Given the description of an element on the screen output the (x, y) to click on. 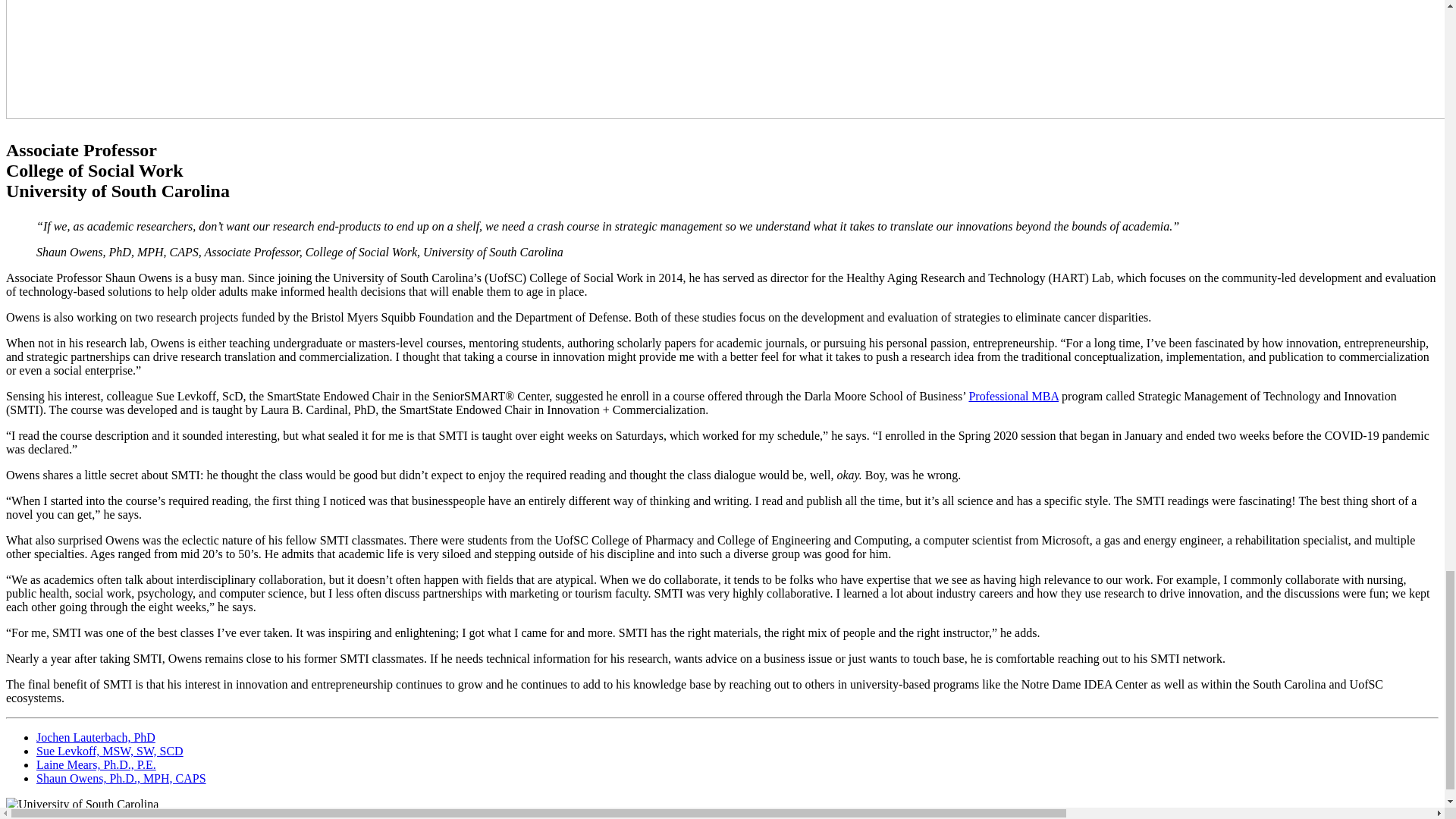
Shaun Owens, Ph.D., MPH, CAPS (121, 778)
Sue Levkoff, MSW, SW, SCD (109, 750)
Professional MBA (1013, 395)
Laine Mears, Ph.D., P.E. (95, 764)
Jochen Lauterbach, PhD (95, 737)
